Given the description of an element on the screen output the (x, y) to click on. 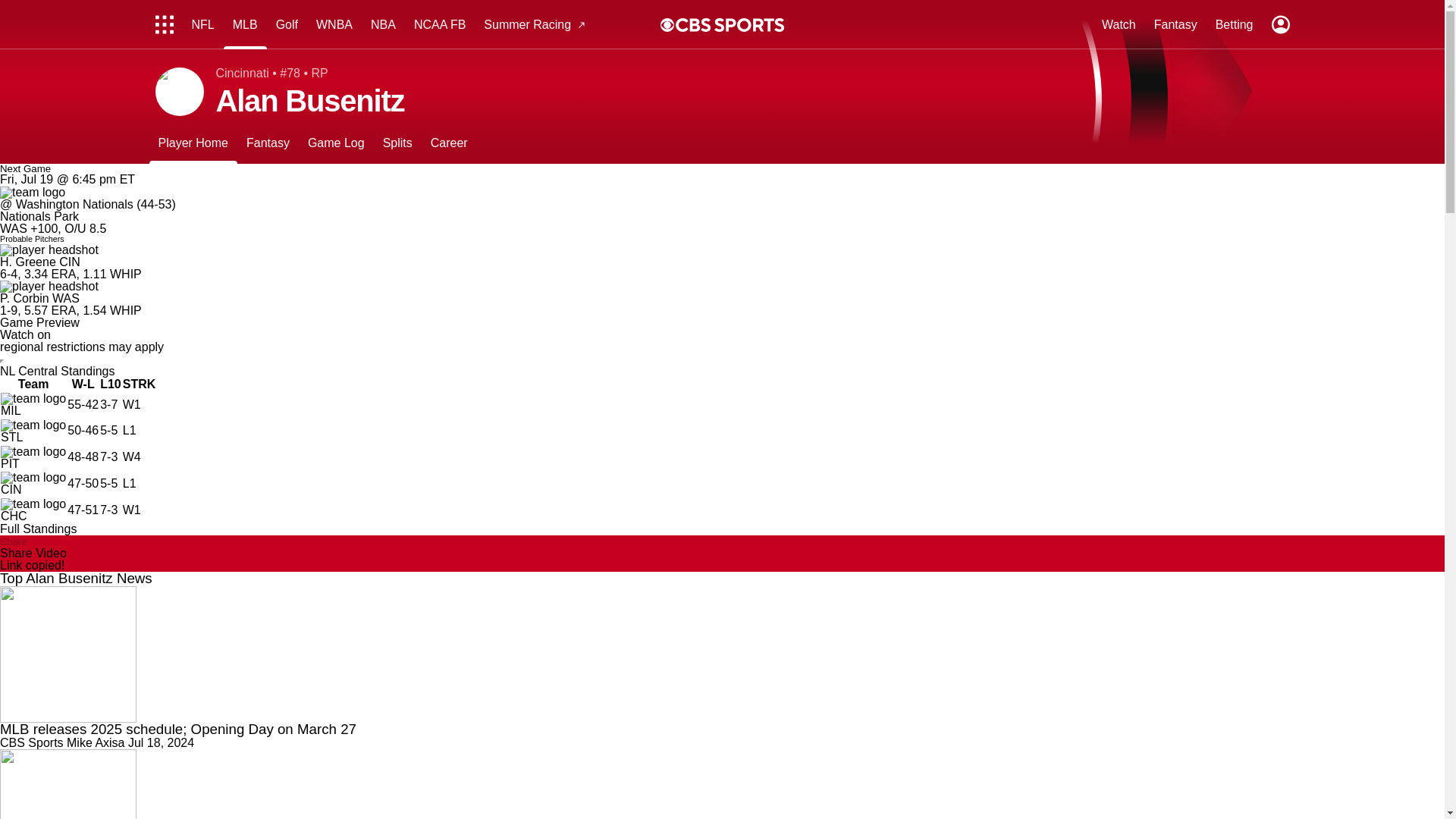
NFL (202, 24)
CBS Logo (729, 24)
CBS Eye (667, 24)
All Sports Menu (163, 24)
